Given the description of an element on the screen output the (x, y) to click on. 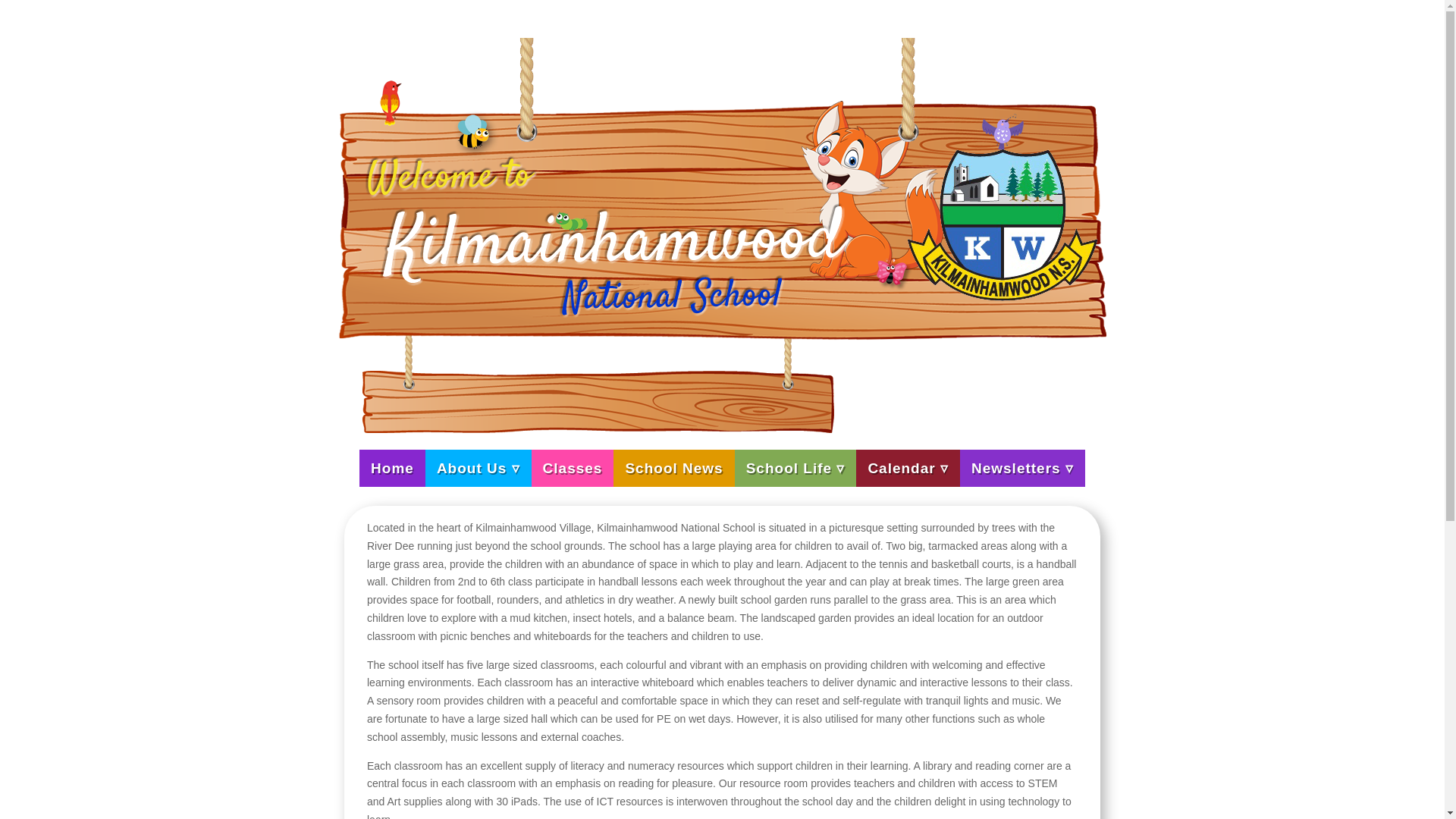
Home (392, 467)
Page Name Background (598, 370)
Classes (572, 467)
School News (672, 467)
